Given the description of an element on the screen output the (x, y) to click on. 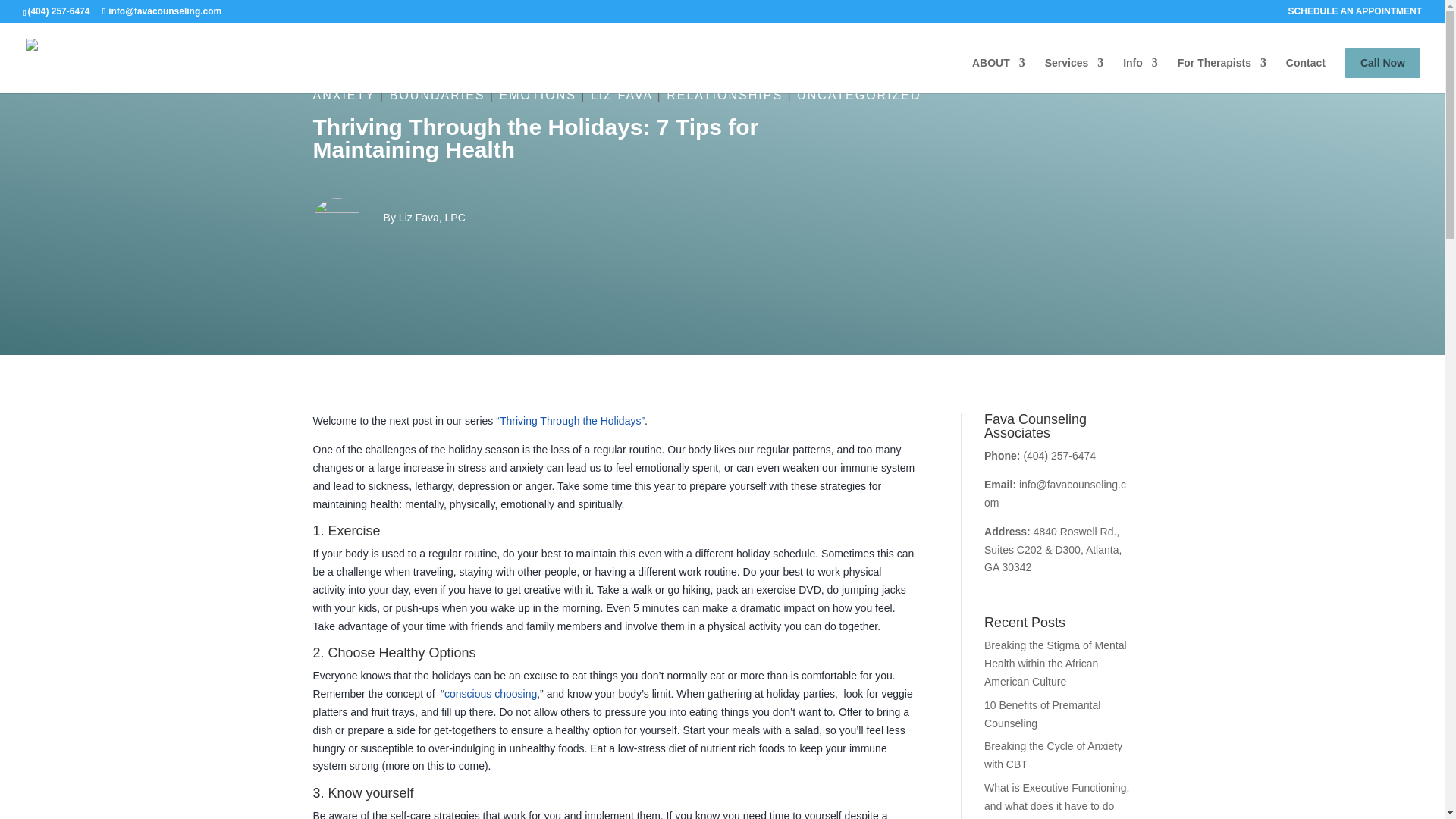
Thriving Through the Holidays (570, 420)
ABOUT (998, 75)
For Therapists (1221, 75)
Services (1074, 75)
Contact (1304, 75)
Info (1139, 75)
SCHEDULE AN APPOINTMENT (1355, 14)
ANXIETY (343, 94)
Thriving Through the Holidays: Conscious Choosing (490, 693)
Call Now (1383, 62)
